Given the description of an element on the screen output the (x, y) to click on. 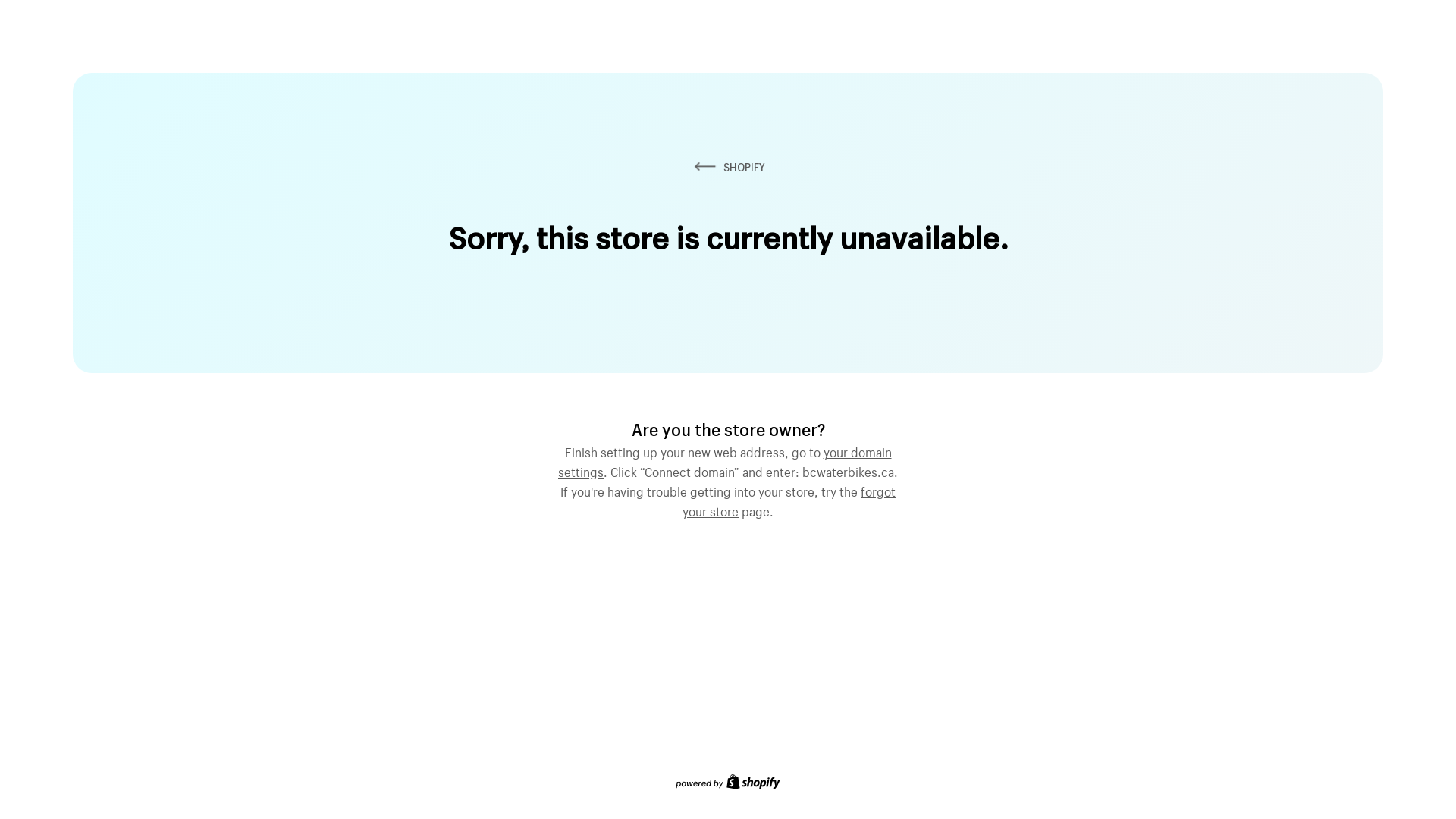
your domain settings Element type: text (724, 460)
forgot your store Element type: text (788, 499)
SHOPIFY Element type: text (727, 167)
